Given the description of an element on the screen output the (x, y) to click on. 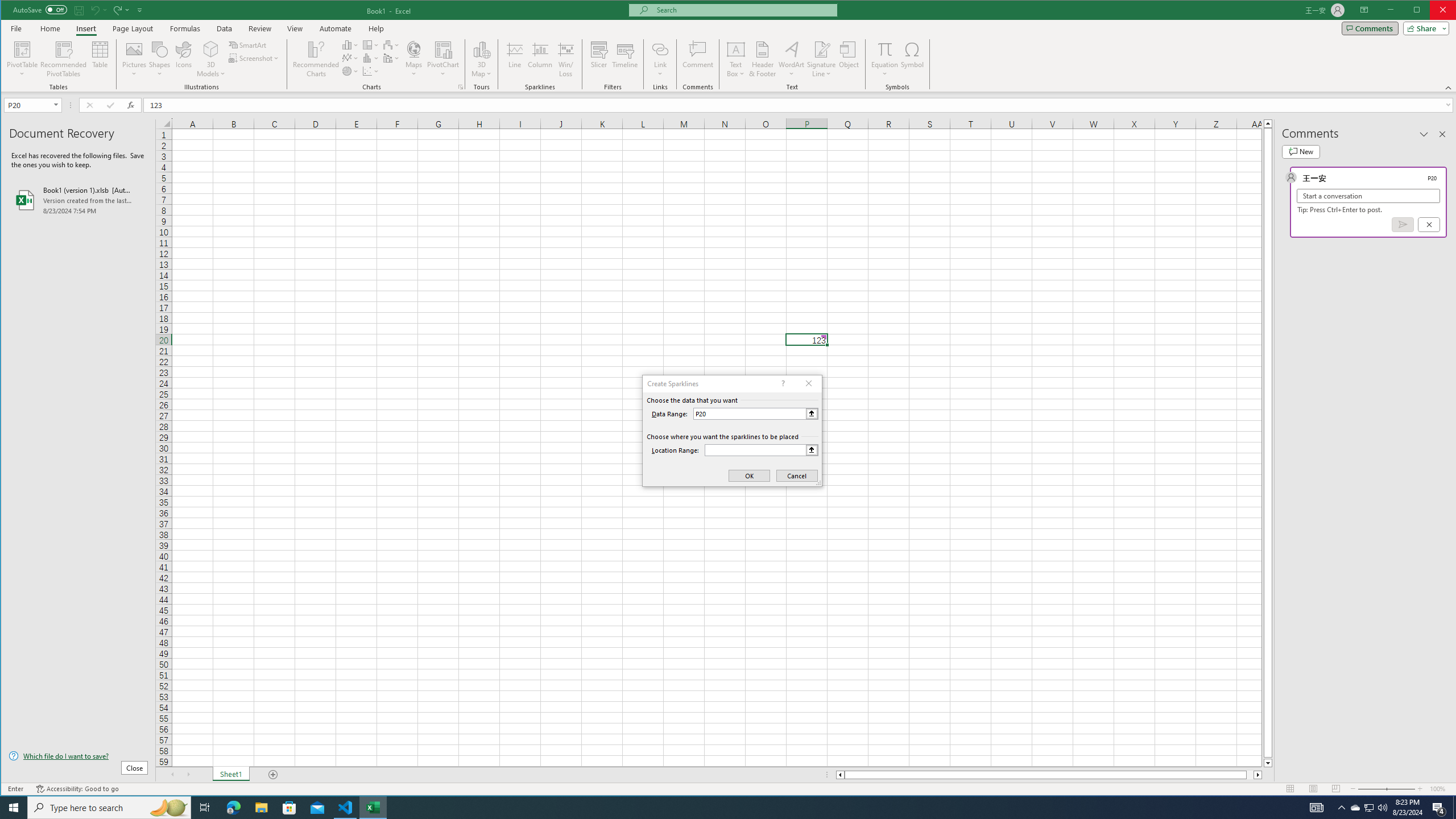
Minimize (1419, 11)
Help (376, 28)
File Tab (16, 27)
Table (100, 59)
Comments (1369, 28)
Maps (413, 59)
Signature Line (821, 59)
Zoom Out (1372, 788)
More Options (884, 69)
Microsoft search (742, 10)
3D Map (481, 48)
